Given the description of an element on the screen output the (x, y) to click on. 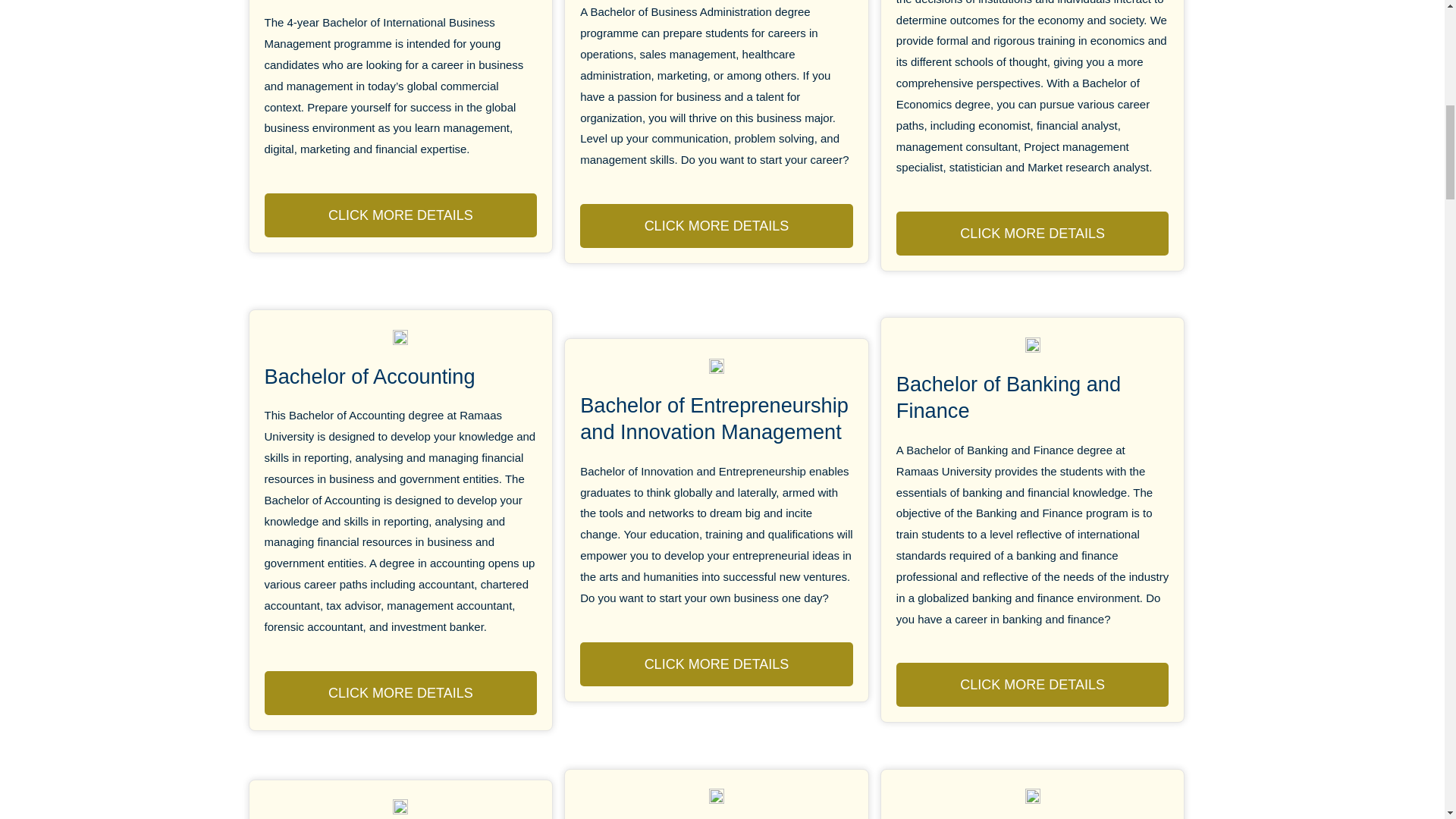
CLICK MORE DETAILS (400, 215)
Bachelor of Accounting (368, 376)
CLICK MORE DETAILS (1032, 233)
CLICK MORE DETAILS (716, 225)
CLICK MORE DETAILS (400, 692)
